Given the description of an element on the screen output the (x, y) to click on. 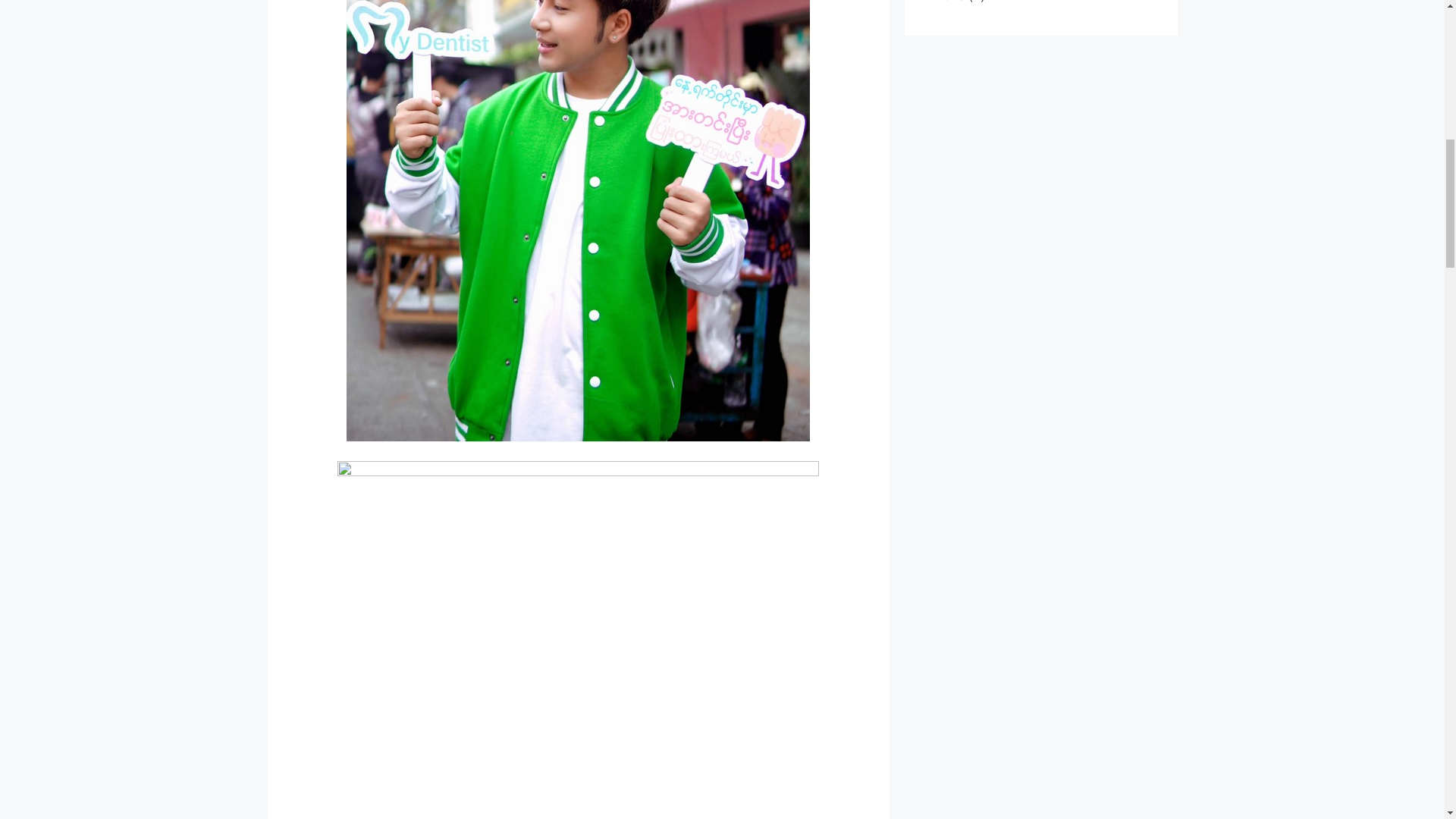
News (948, 2)
